Given the description of an element on the screen output the (x, y) to click on. 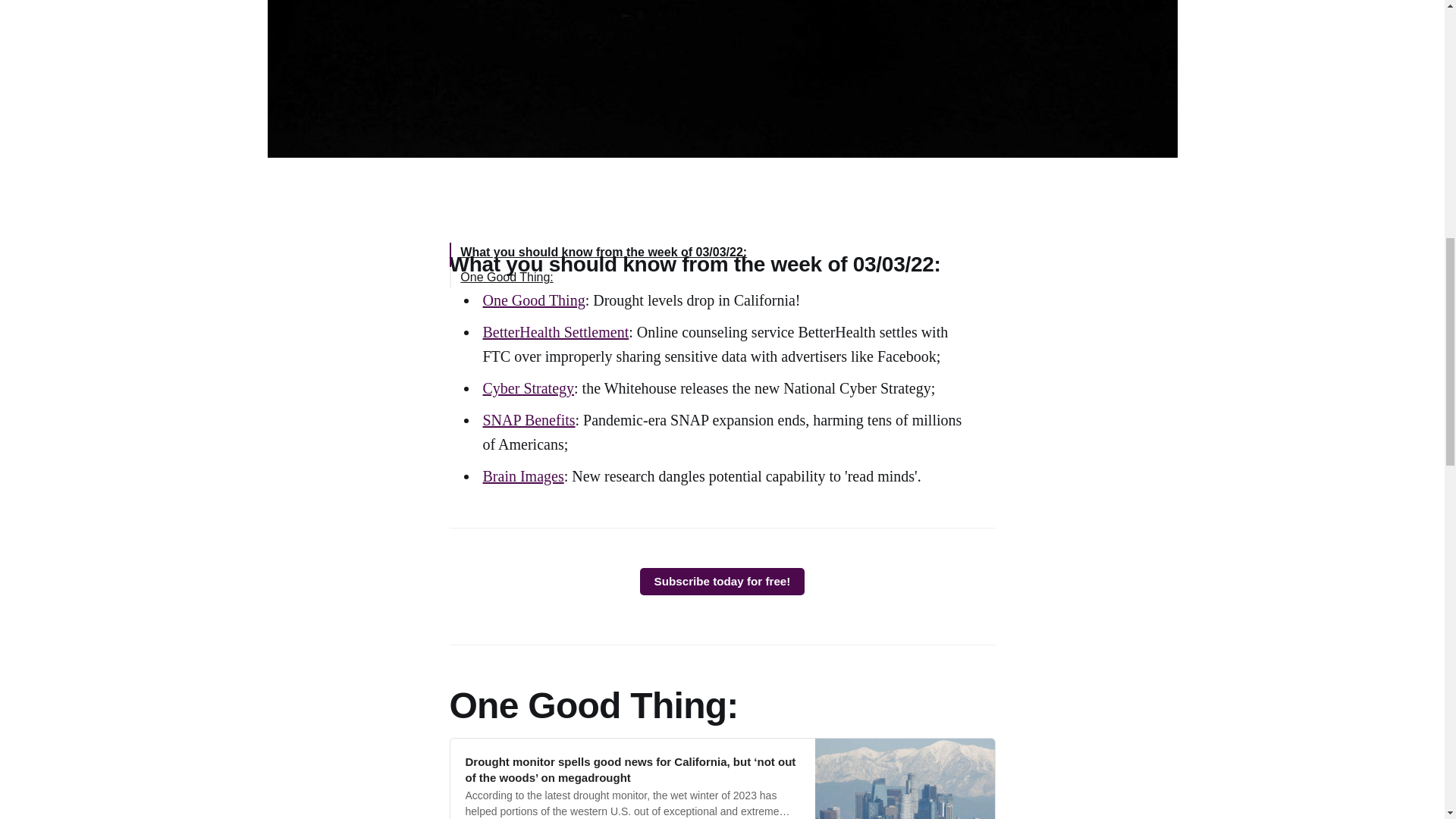
Cyber Strategy (527, 388)
Brain Images (522, 475)
SNAP Benefits (528, 419)
BetterHealth Settlement (554, 331)
One Good Thing (533, 299)
Subscribe today for free! (721, 581)
One Good Thing: (506, 277)
